Given the description of an element on the screen output the (x, y) to click on. 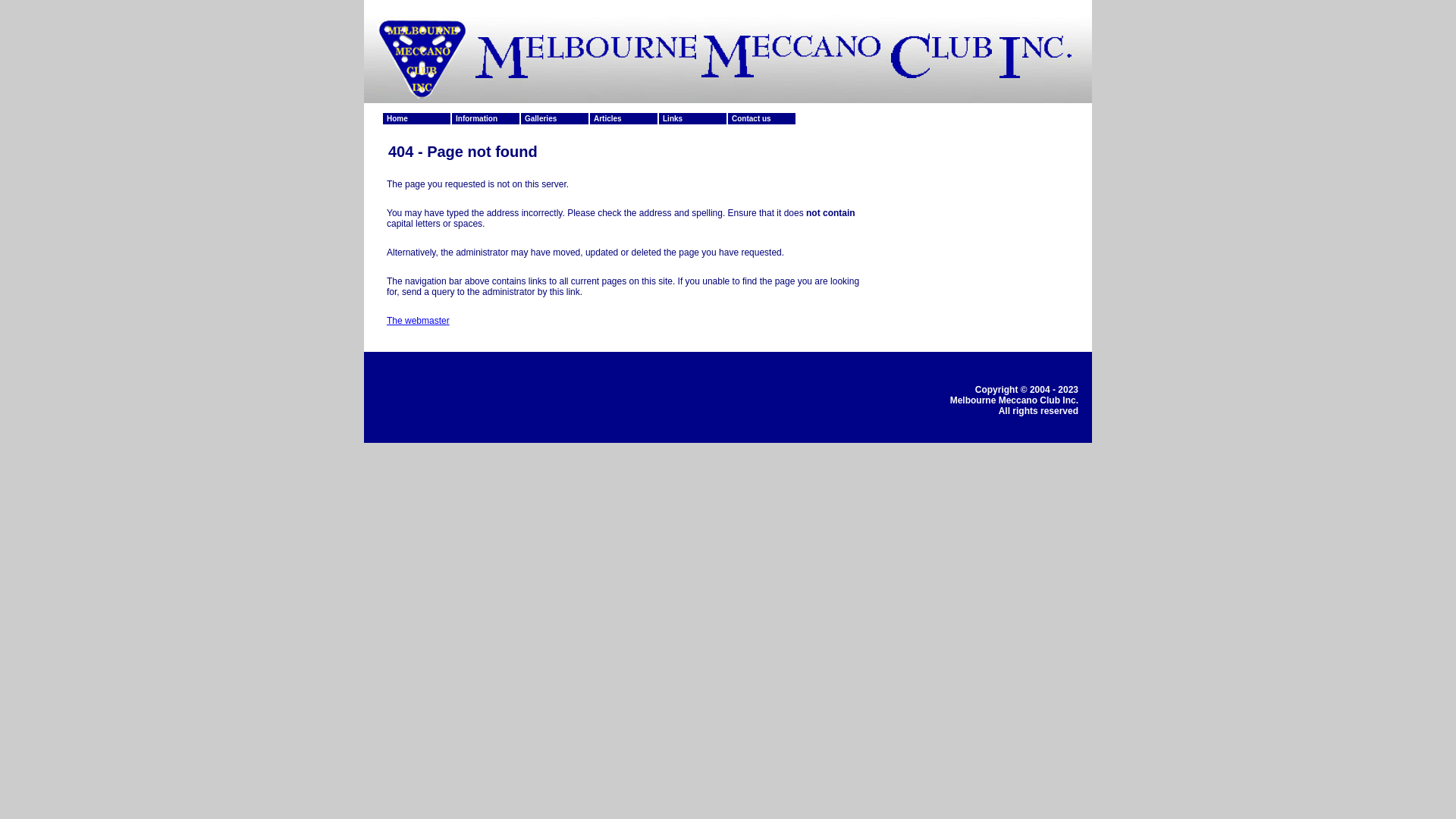
Articles Element type: text (623, 118)
Galleries Element type: text (554, 118)
Information Element type: text (485, 118)
Contact us Element type: text (762, 118)
The webmaster Element type: text (417, 320)
Links Element type: text (692, 118)
Home Element type: text (416, 118)
